Given the description of an element on the screen output the (x, y) to click on. 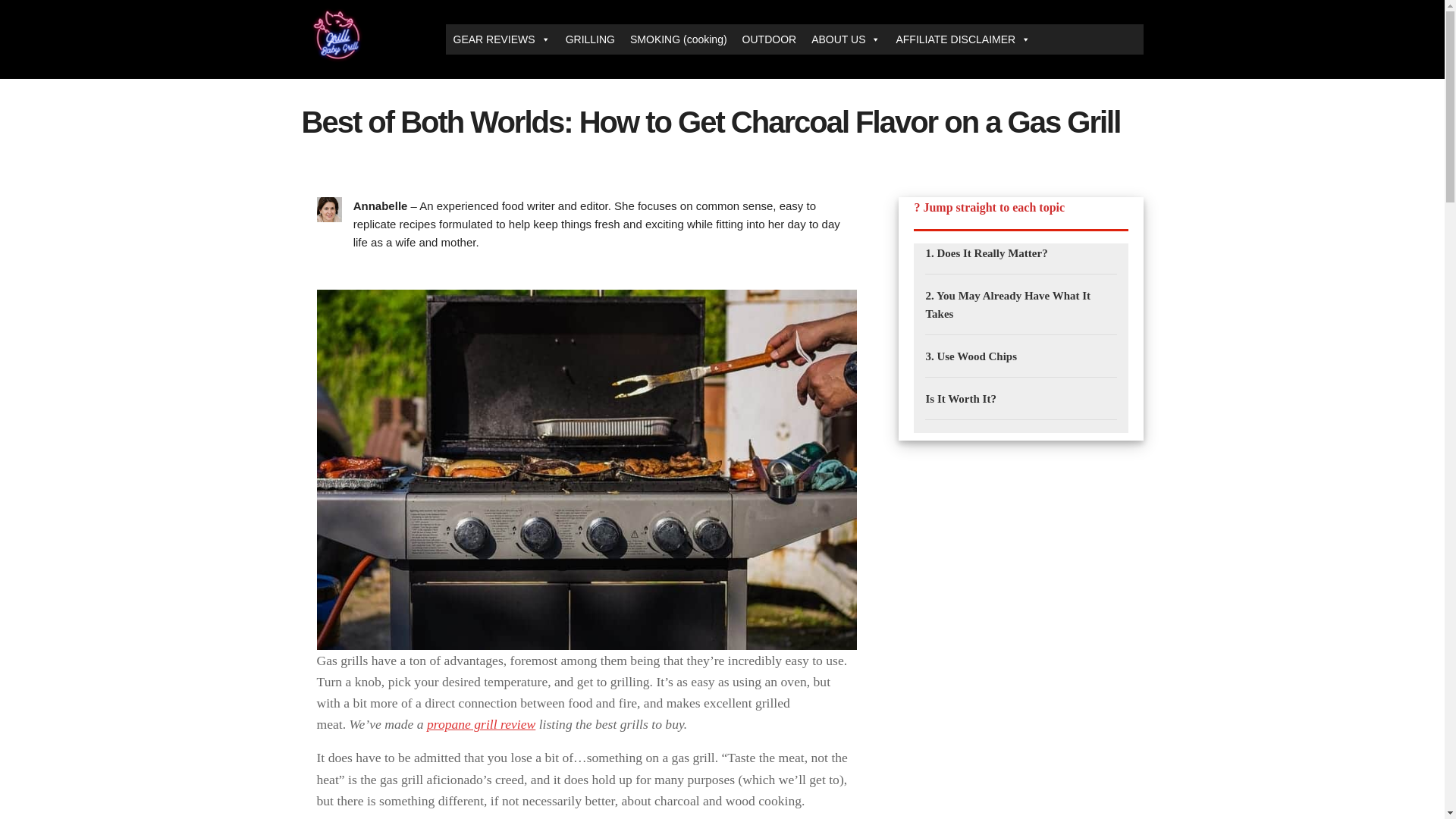
1. Does It Really Matter? (985, 253)
OUTDOOR (770, 39)
GRILLING (590, 39)
AFFILIATE DISCLAIMER (963, 39)
Is It Worth It? (959, 398)
propane grill review (480, 724)
ABOUT US (845, 39)
GEAR REVIEWS (501, 39)
3. Use Wood Chips (970, 356)
